Given the description of an element on the screen output the (x, y) to click on. 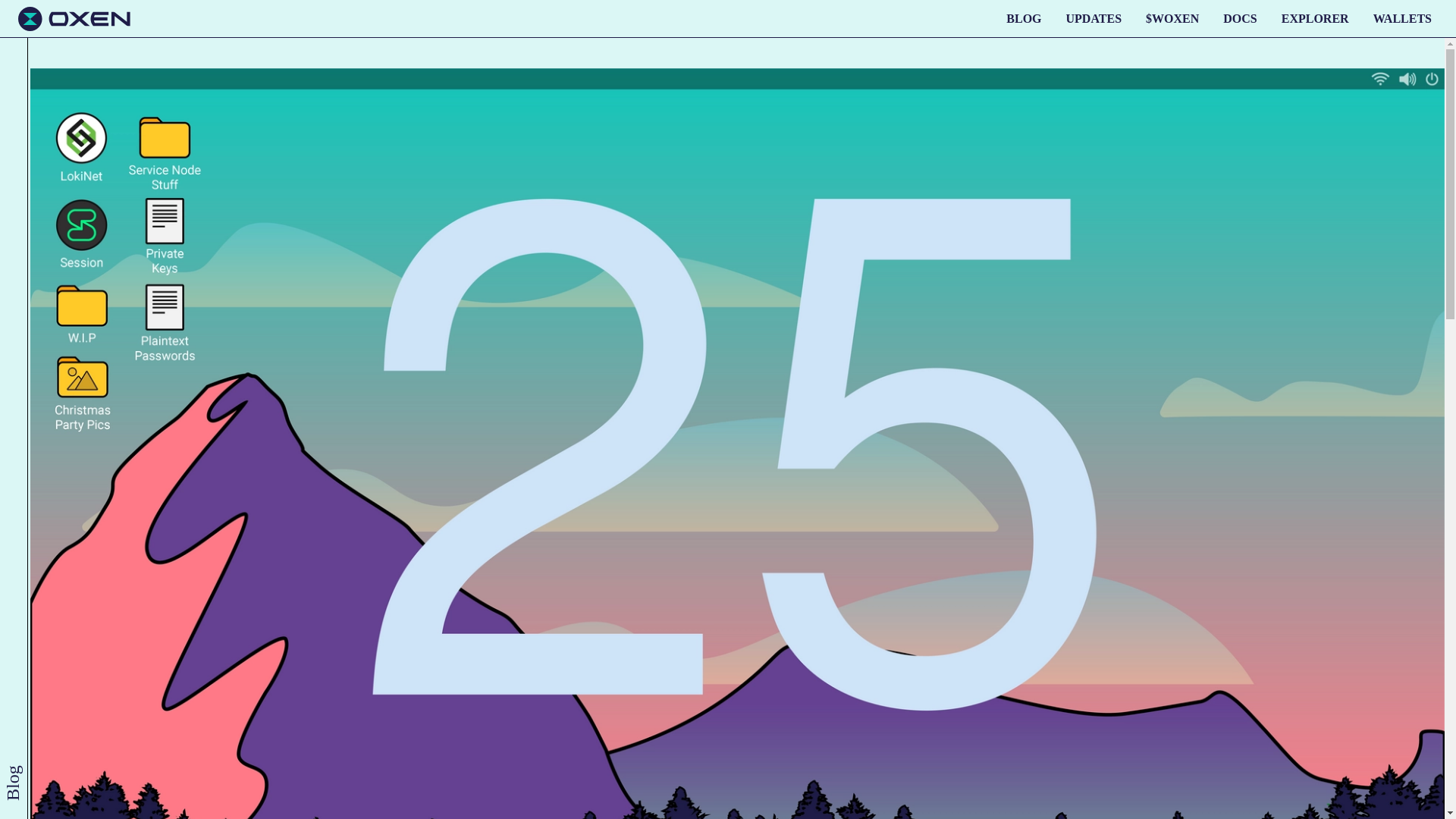
DOCS (1239, 18)
UPDATES (1093, 18)
WALLETS (1402, 18)
EXPLORER (1315, 18)
BLOG (1023, 18)
